Given the description of an element on the screen output the (x, y) to click on. 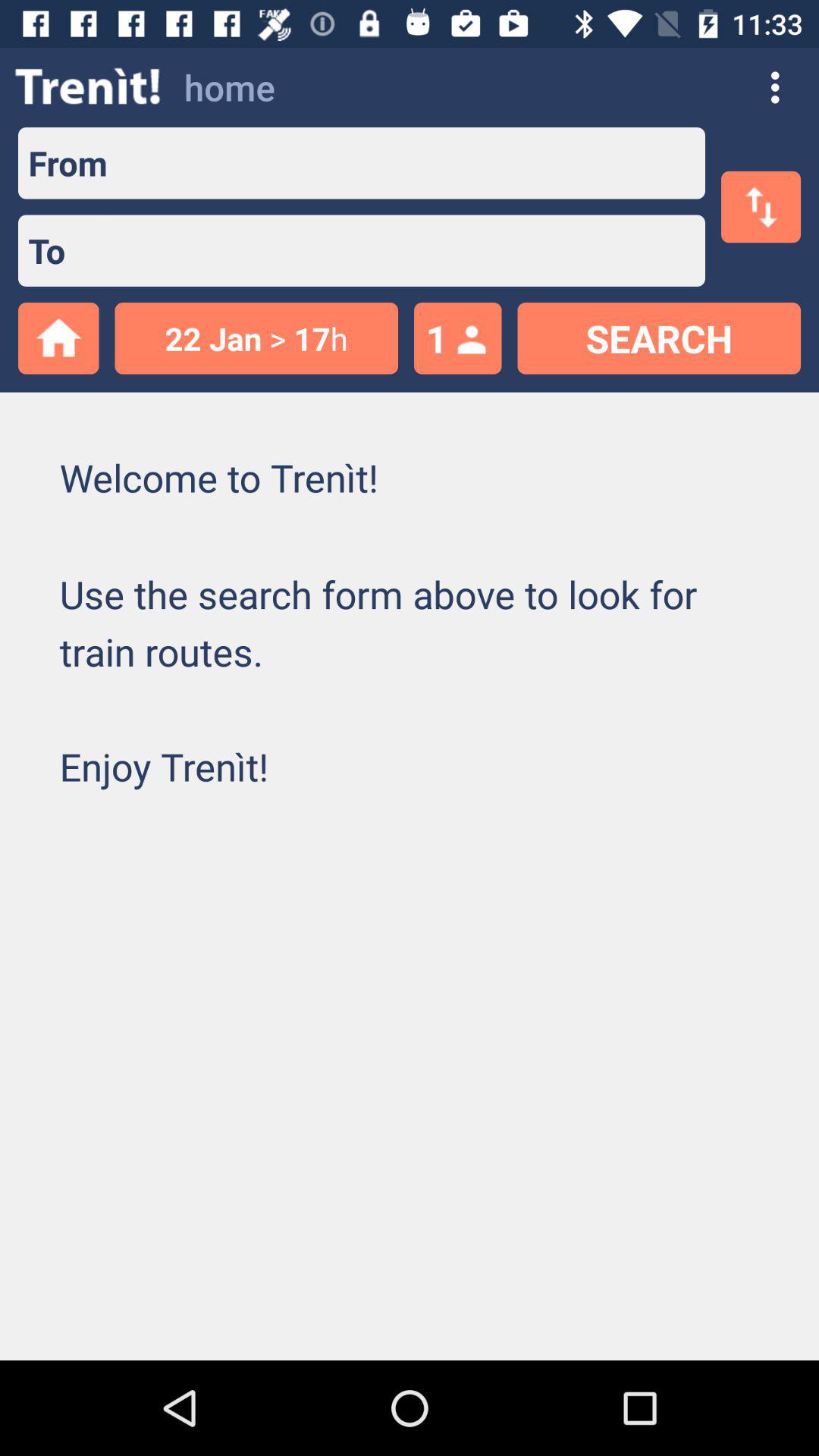
space to enter mail address (406, 250)
